Given the description of an element on the screen output the (x, y) to click on. 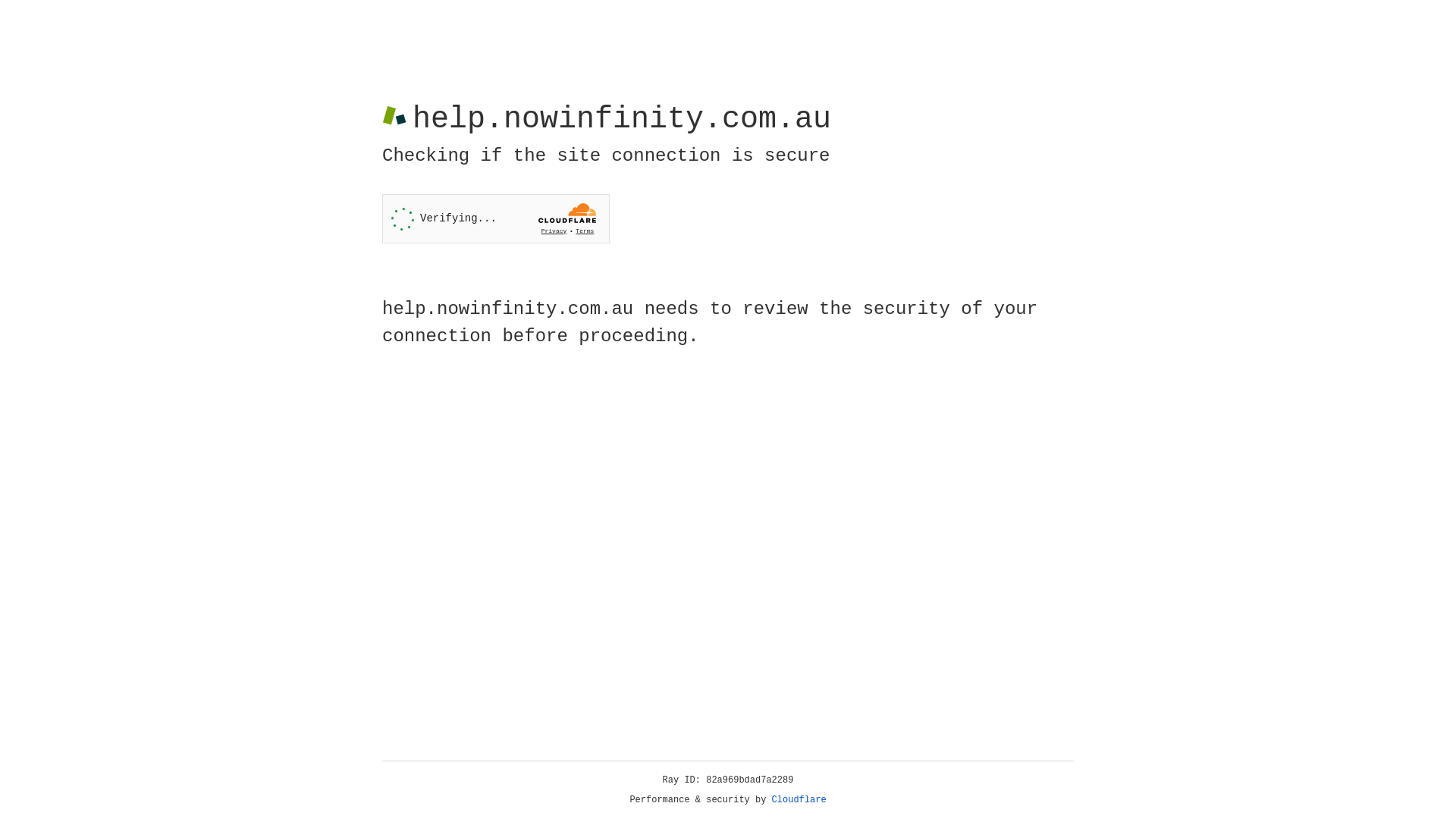
Cloudflare Element type: text (798, 799)
Widget containing a Cloudflare security challenge Element type: hover (495, 218)
